Given the description of an element on the screen output the (x, y) to click on. 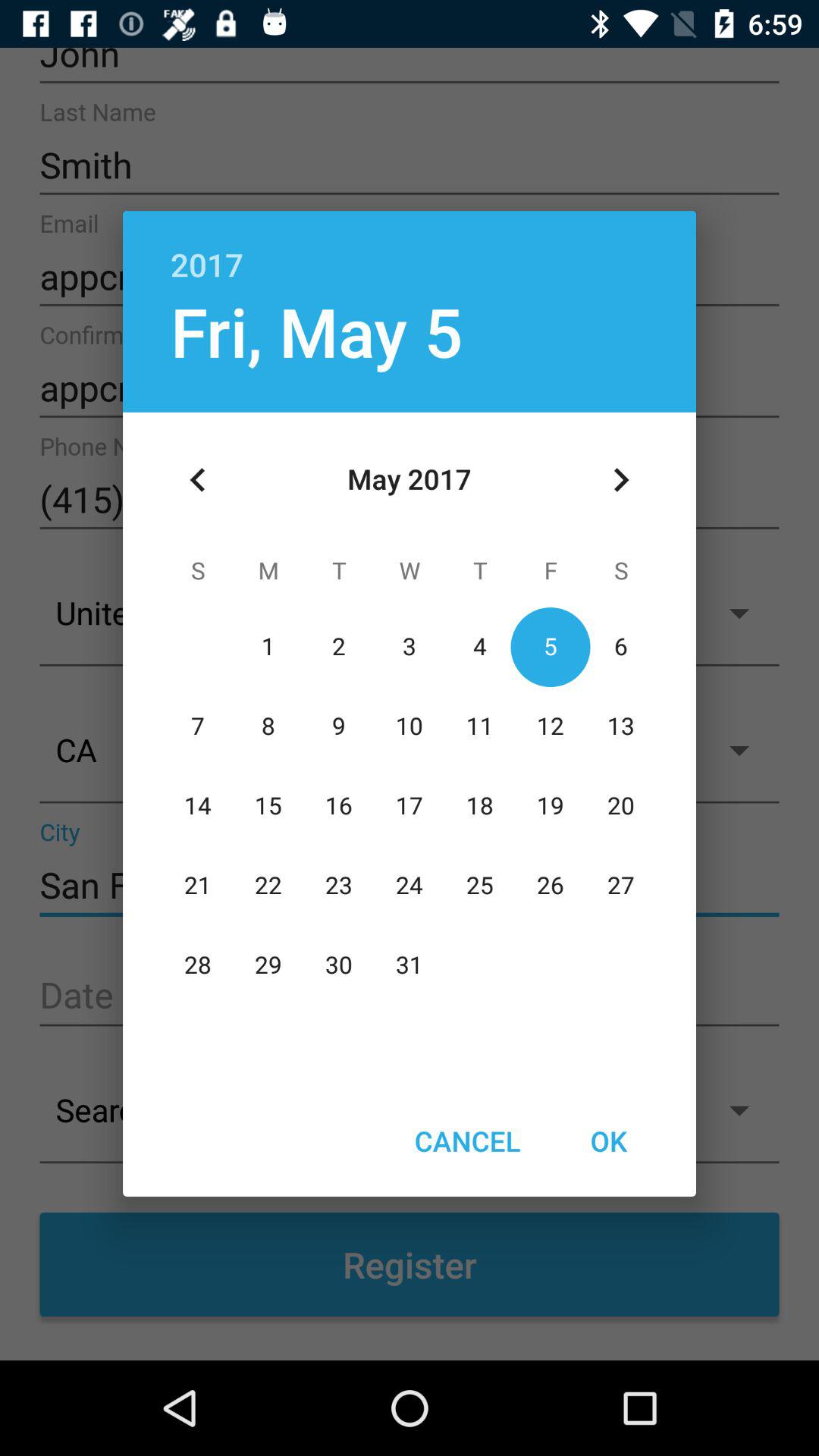
turn off fri, may 5 item (316, 331)
